Given the description of an element on the screen output the (x, y) to click on. 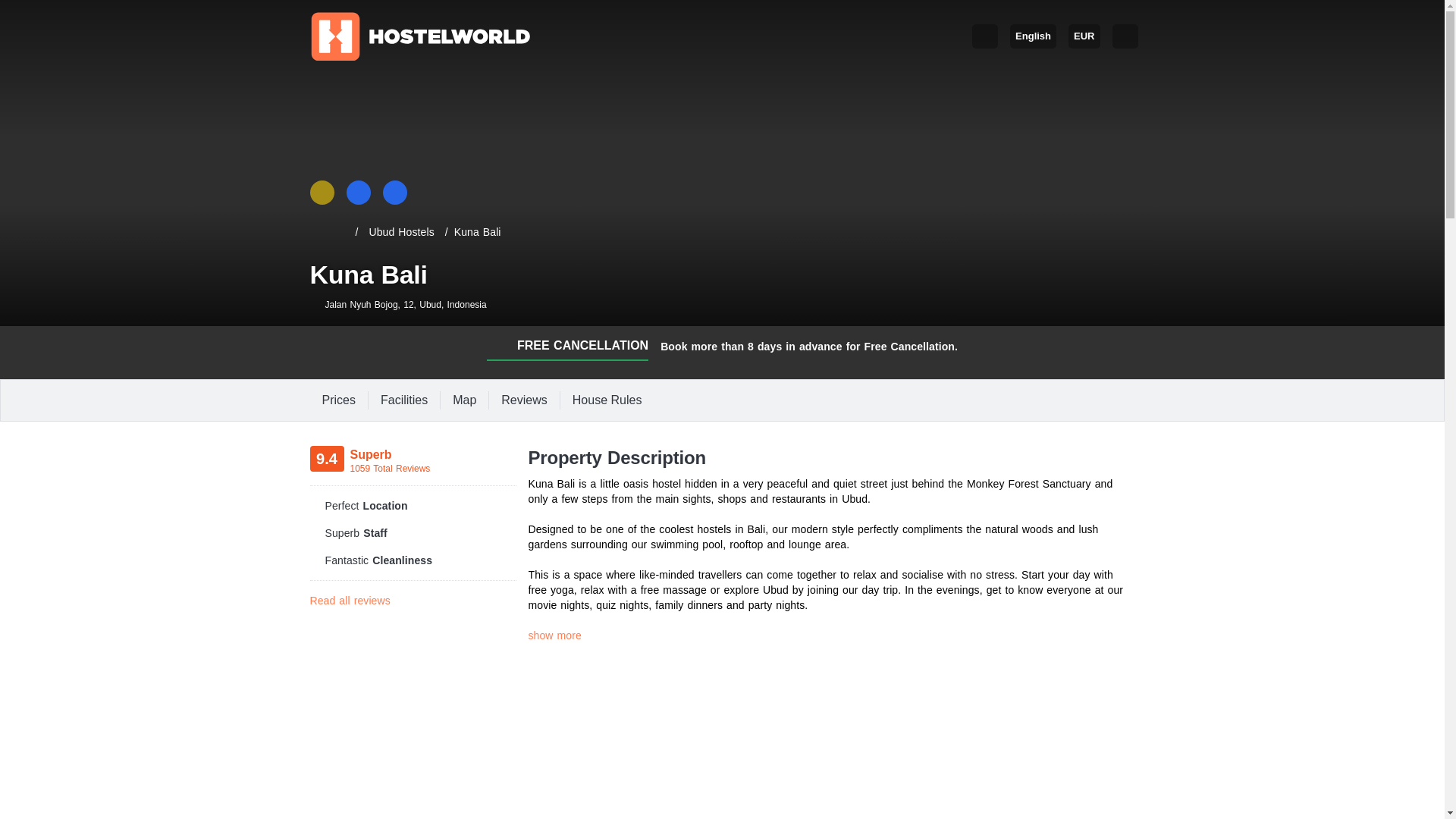
Log in to your Hostelworld account! (984, 36)
Prices (337, 400)
Ubud Hostels (401, 231)
EUR (1083, 36)
English (1033, 36)
English (1027, 36)
Facilities (403, 400)
EUR (1083, 36)
Indonesia (466, 304)
English (1033, 36)
